Given the description of an element on the screen output the (x, y) to click on. 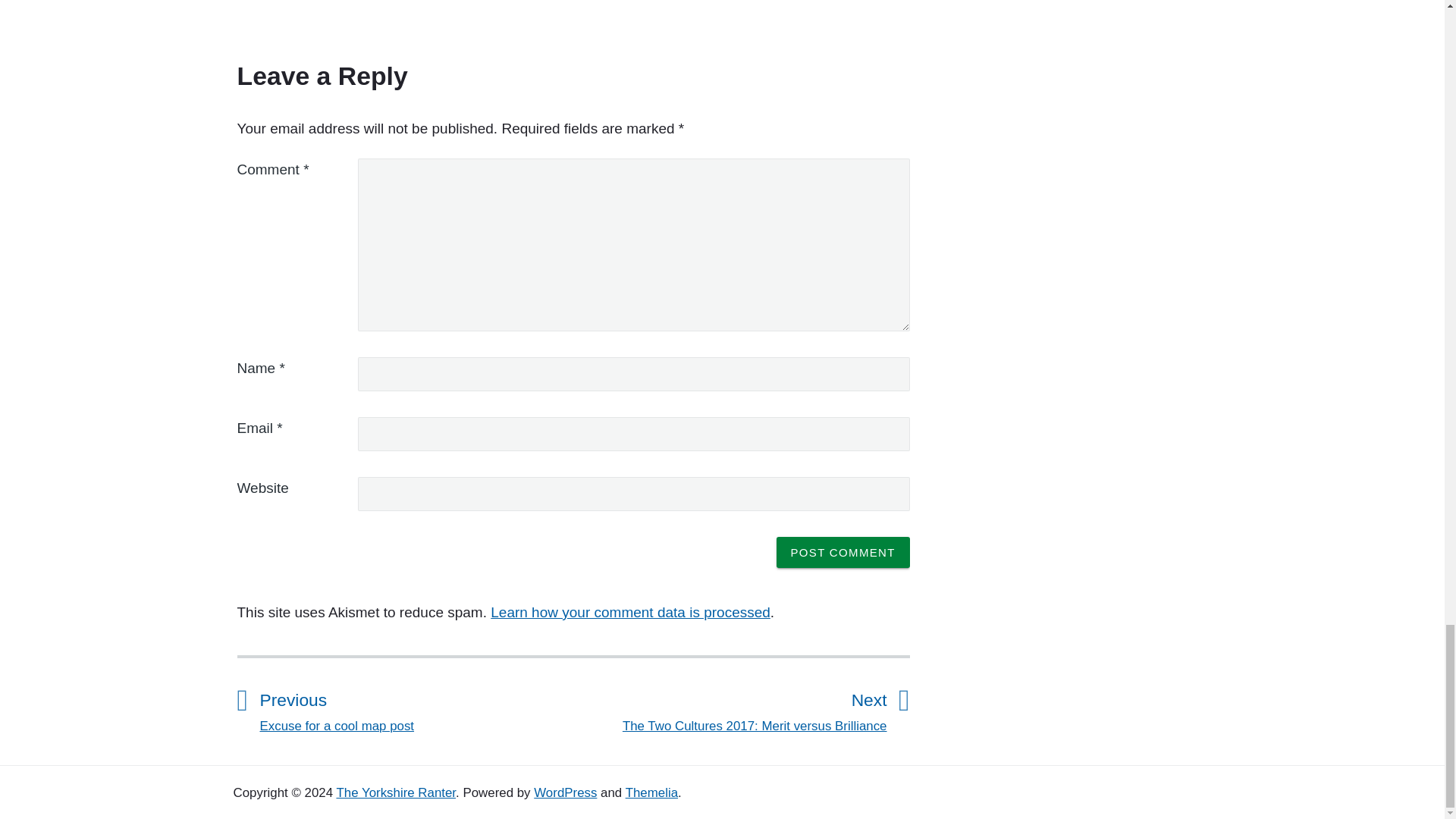
Post Comment (843, 552)
Post Comment (843, 552)
Reply (256, 3)
Learn how your comment data is processed (416, 708)
